Given the description of an element on the screen output the (x, y) to click on. 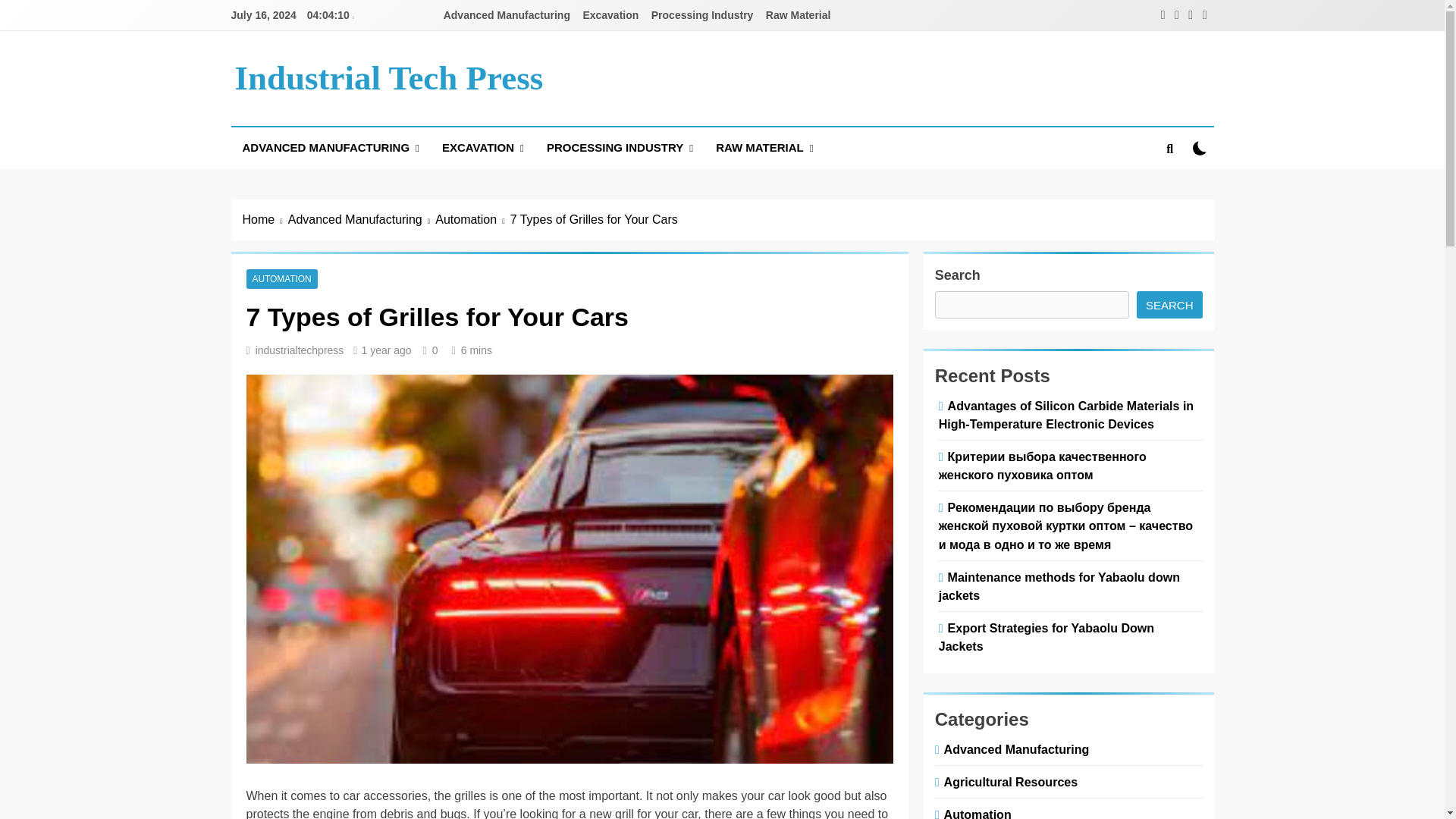
Raw Material (798, 15)
on (1199, 147)
Advanced Manufacturing (507, 15)
Home (265, 219)
Industrial Tech Press (388, 77)
Processing Industry (702, 15)
Advanced Manufacturing (361, 219)
PROCESSING INDUSTRY (619, 147)
AUTOMATION (281, 278)
RAW MATERIAL (764, 147)
Automation (472, 219)
EXCAVATION (482, 147)
ADVANCED MANUFACTURING (329, 147)
Excavation (610, 15)
